Given the description of an element on the screen output the (x, y) to click on. 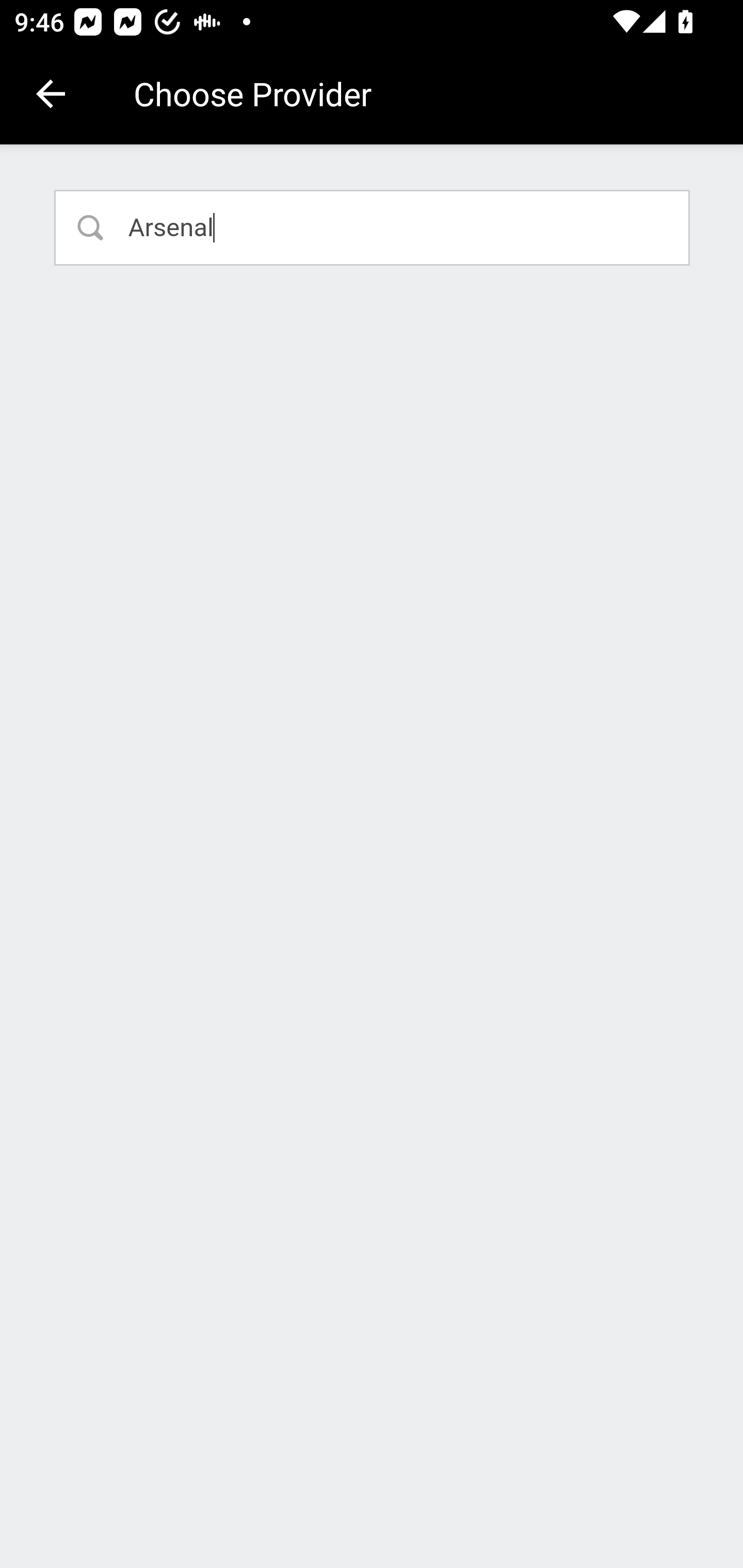
Navigate up (50, 93)
Arsenal (372, 227)
